Given the description of an element on the screen output the (x, y) to click on. 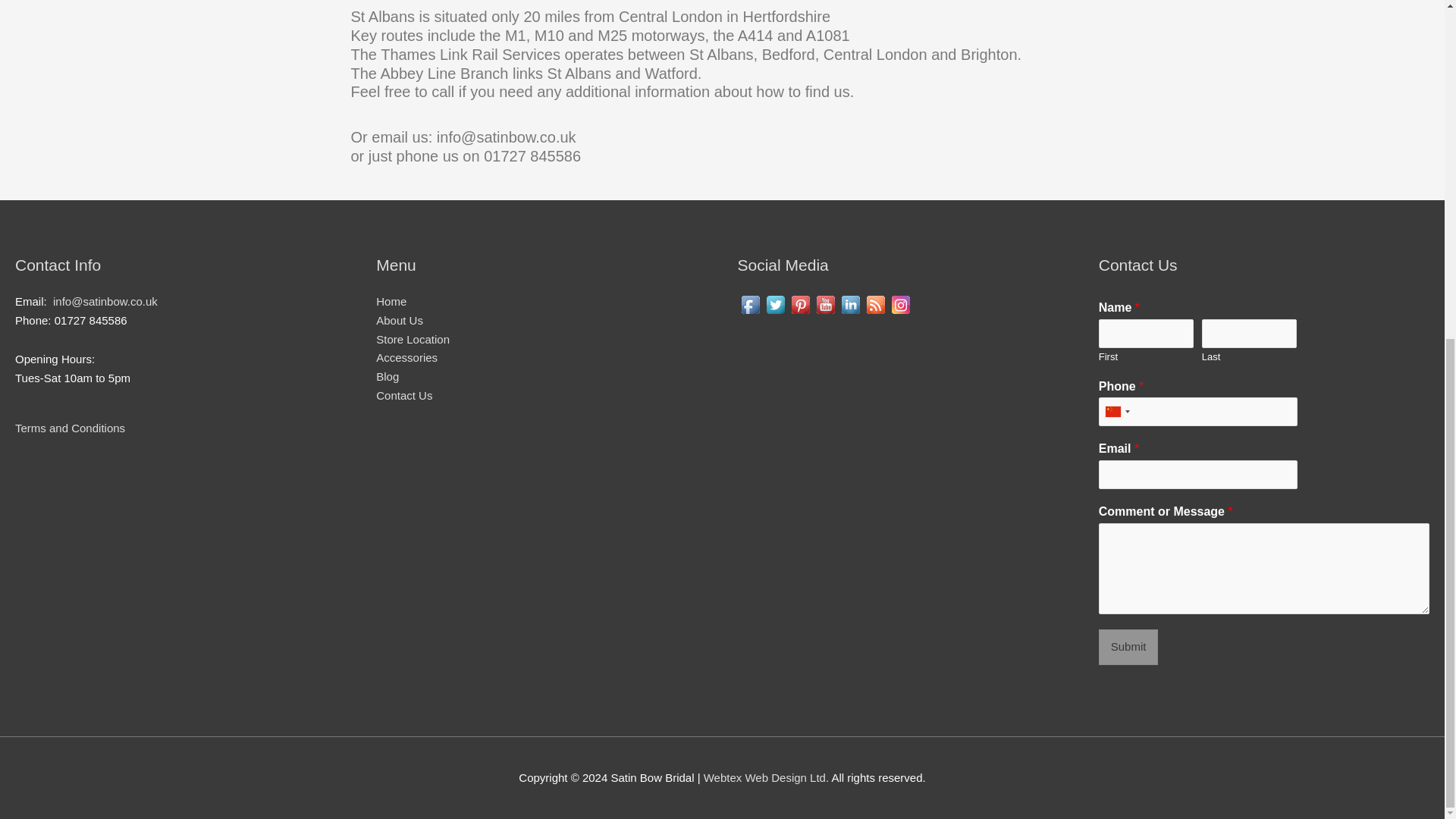
Visit Us On Twitter (774, 303)
Visit Us On Youtube (825, 303)
Visit Us On Pinterest (799, 303)
Visit Us On Linkedin (849, 303)
Check Our Feed (875, 303)
Visit Us On Instagram (899, 303)
Visit Us On Facebook (748, 303)
